Given the description of an element on the screen output the (x, y) to click on. 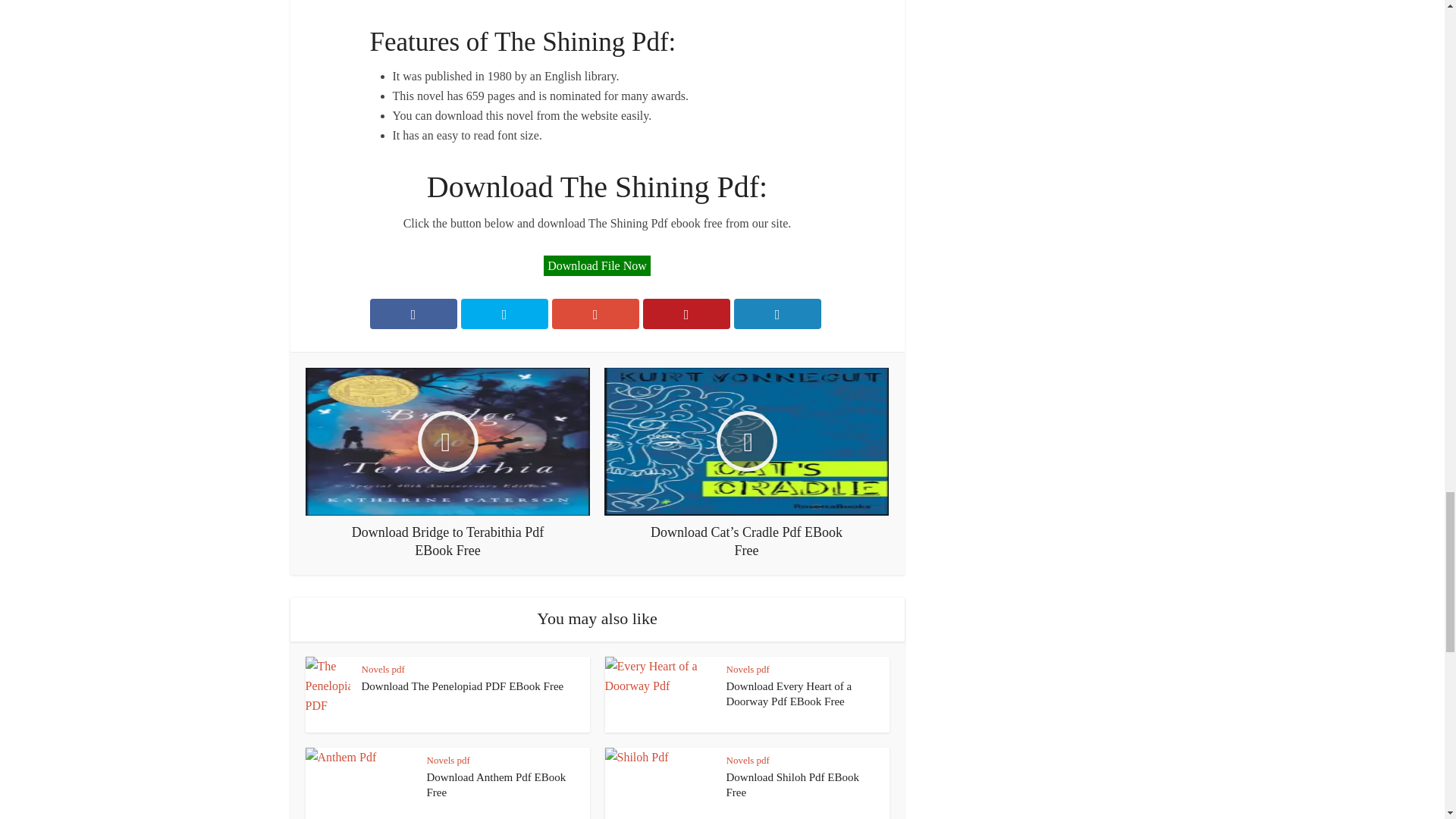
Download The Penelopiad PDF EBook Free (462, 686)
Download Anthem Pdf EBook Free (496, 784)
Download Shiloh Pdf EBook Free (792, 784)
Download Bridge to Terabithia Pdf EBook Free (447, 463)
Novels pdf (382, 668)
Download Every Heart of a Doorway Pdf EBook Free (788, 693)
Novels pdf (447, 759)
Download Every Heart of a Doorway Pdf EBook Free (788, 693)
Novels pdf (748, 668)
Download The Penelopiad PDF EBook Free (462, 686)
